Given the description of an element on the screen output the (x, y) to click on. 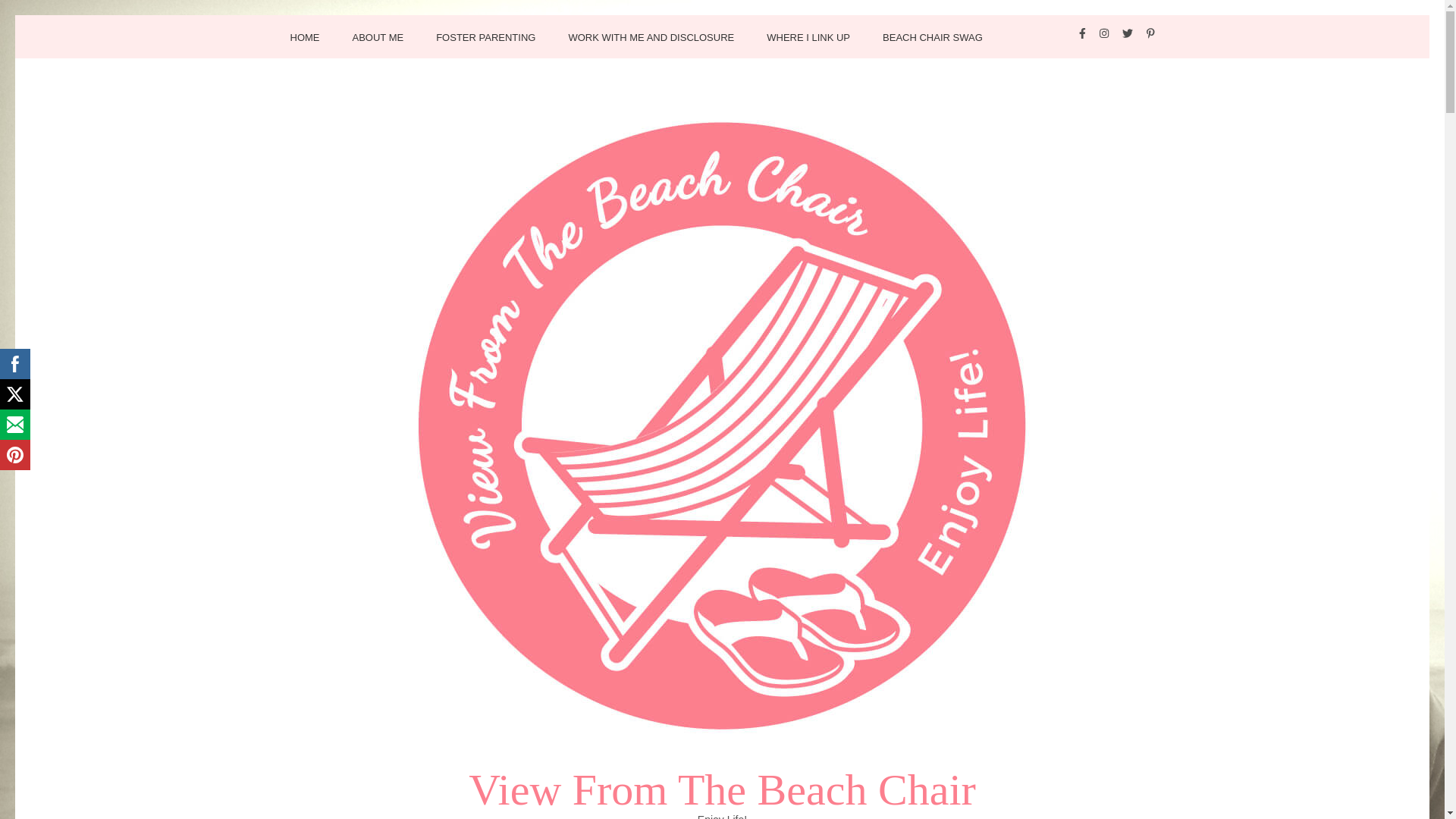
WORK WITH ME AND DISCLOSURE (650, 44)
WHERE I LINK UP (808, 44)
HOME (303, 44)
ABOUT ME (377, 44)
View From The Beach Chair (721, 790)
BEACH CHAIR SWAG (932, 44)
FOSTER PARENTING (485, 44)
